Given the description of an element on the screen output the (x, y) to click on. 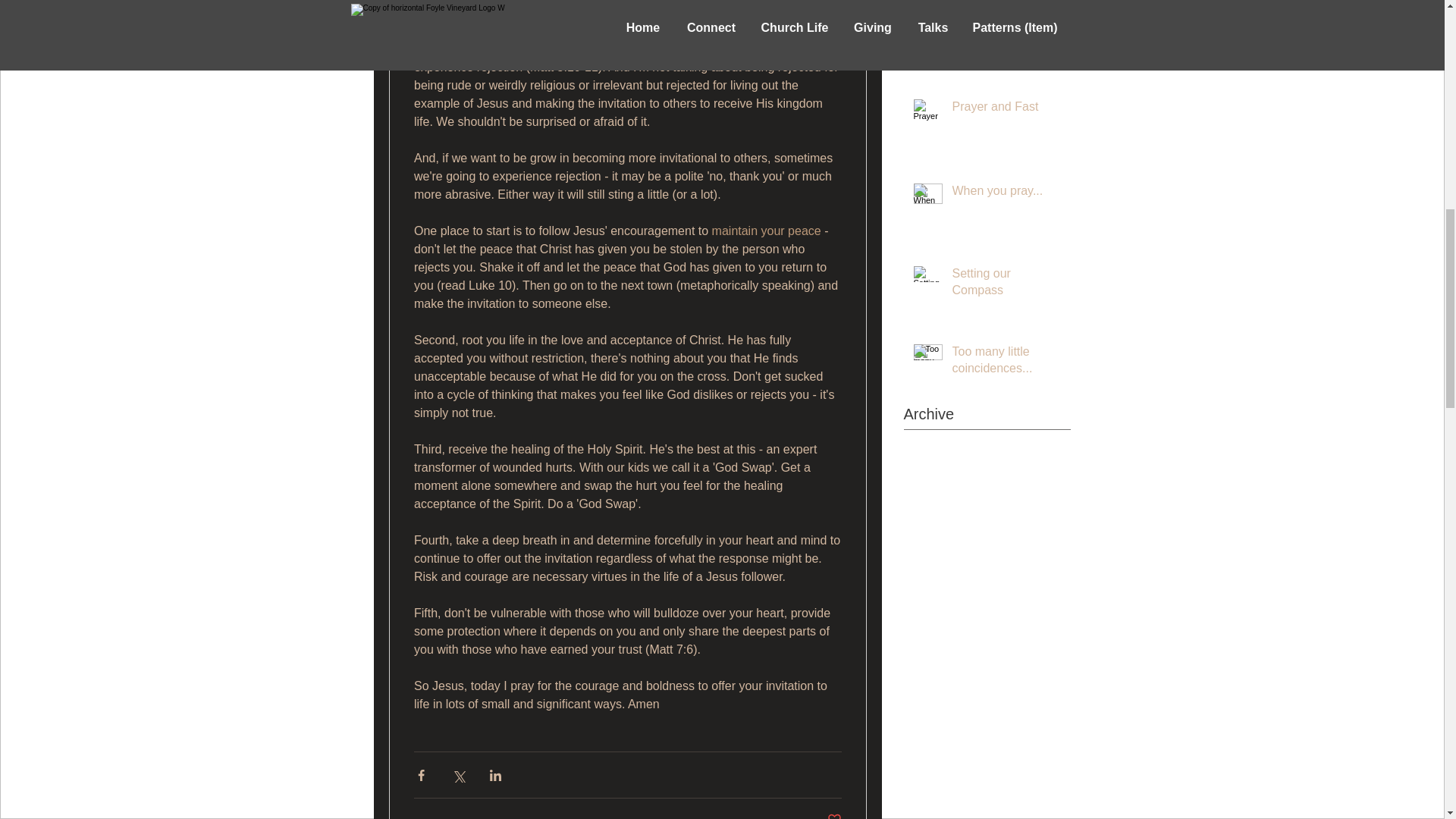
Growing into who you are... (1006, 40)
Post not marked as liked (834, 815)
maintain your peace (766, 230)
When you pray... (1006, 193)
Too many little coincidences... (1006, 363)
Setting our Compass (1006, 285)
Prayer and Fast (1006, 109)
